Given the description of an element on the screen output the (x, y) to click on. 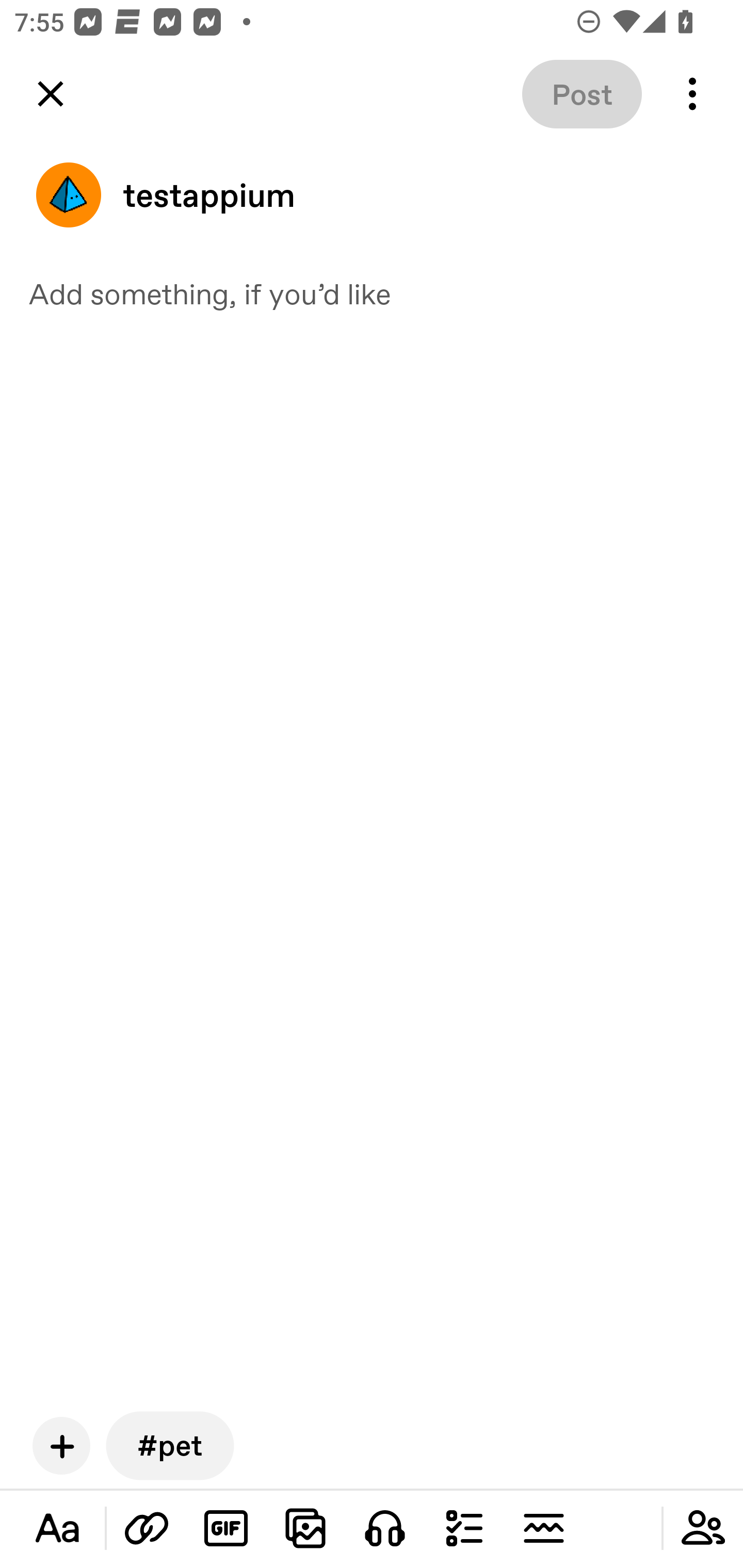
Navigate up (50, 93)
Post (581, 93)
Blog Selector testappium (371, 195)
Add something, if you’d like (371, 293)
#pet (169, 1445)
Add text to post (57, 1528)
Add text to post (146, 1528)
Add GIF to post (225, 1528)
Add Photo to post (305, 1528)
Add Audio to post (384, 1528)
Add Poll to post (463, 1528)
Add read-more link to post (543, 1528)
Add community label for post (703, 1528)
